Given the description of an element on the screen output the (x, y) to click on. 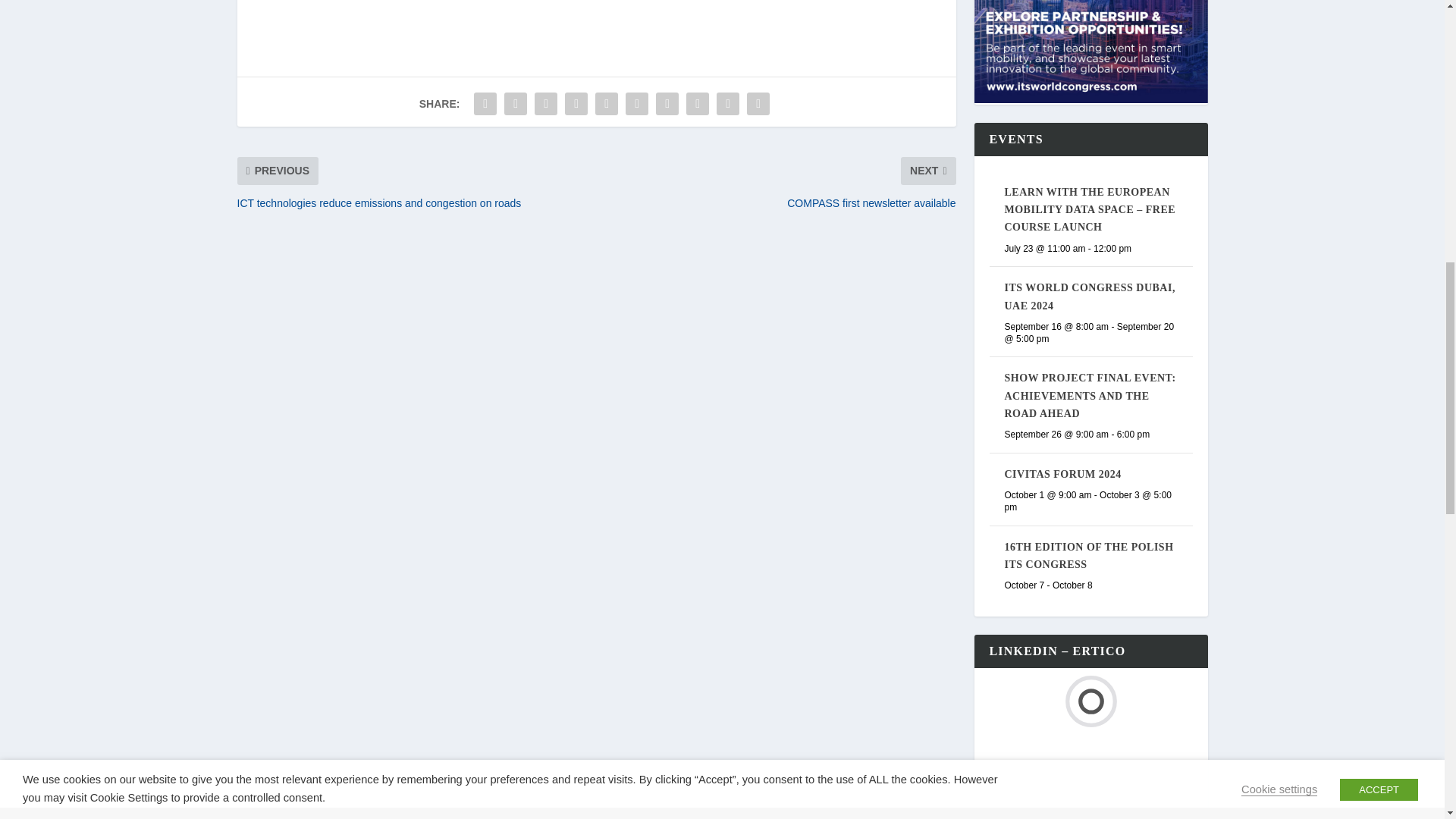
Share "Mobility and Logistics Newsletter" via Email (727, 103)
Share "Mobility and Logistics Newsletter" via Facebook (485, 103)
Share "Mobility and Logistics Newsletter" via Print (757, 103)
Share "Mobility and Logistics Newsletter" via Stumbleupon (697, 103)
Share "Mobility and Logistics Newsletter" via Twitter (515, 103)
Share "Mobility and Logistics Newsletter" via LinkedIn (636, 103)
Share "Mobility and Logistics Newsletter" via Tumblr (575, 103)
Share "Mobility and Logistics Newsletter" via Pinterest (606, 103)
Share "Mobility and Logistics Newsletter" via Buffer (667, 103)
